Given the description of an element on the screen output the (x, y) to click on. 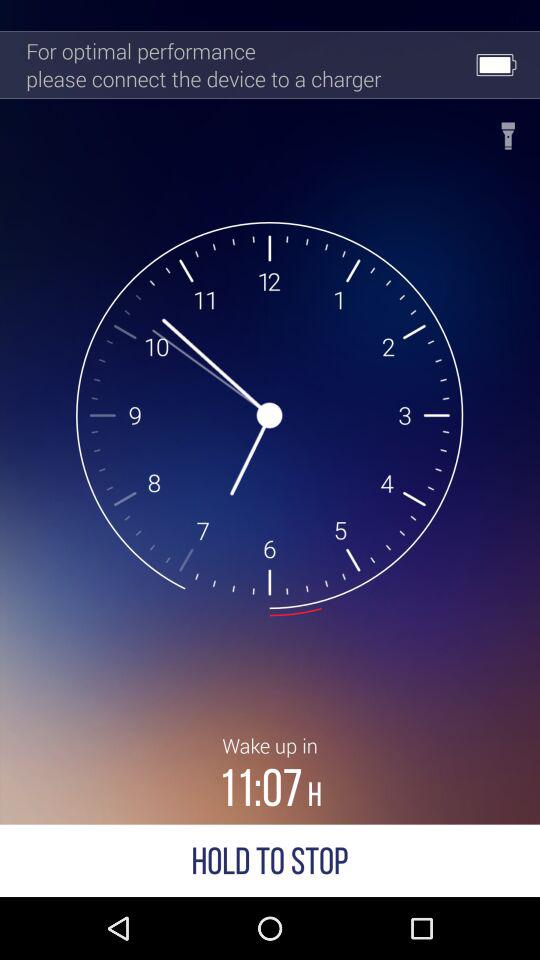
tap the hold to stop icon (270, 860)
